Given the description of an element on the screen output the (x, y) to click on. 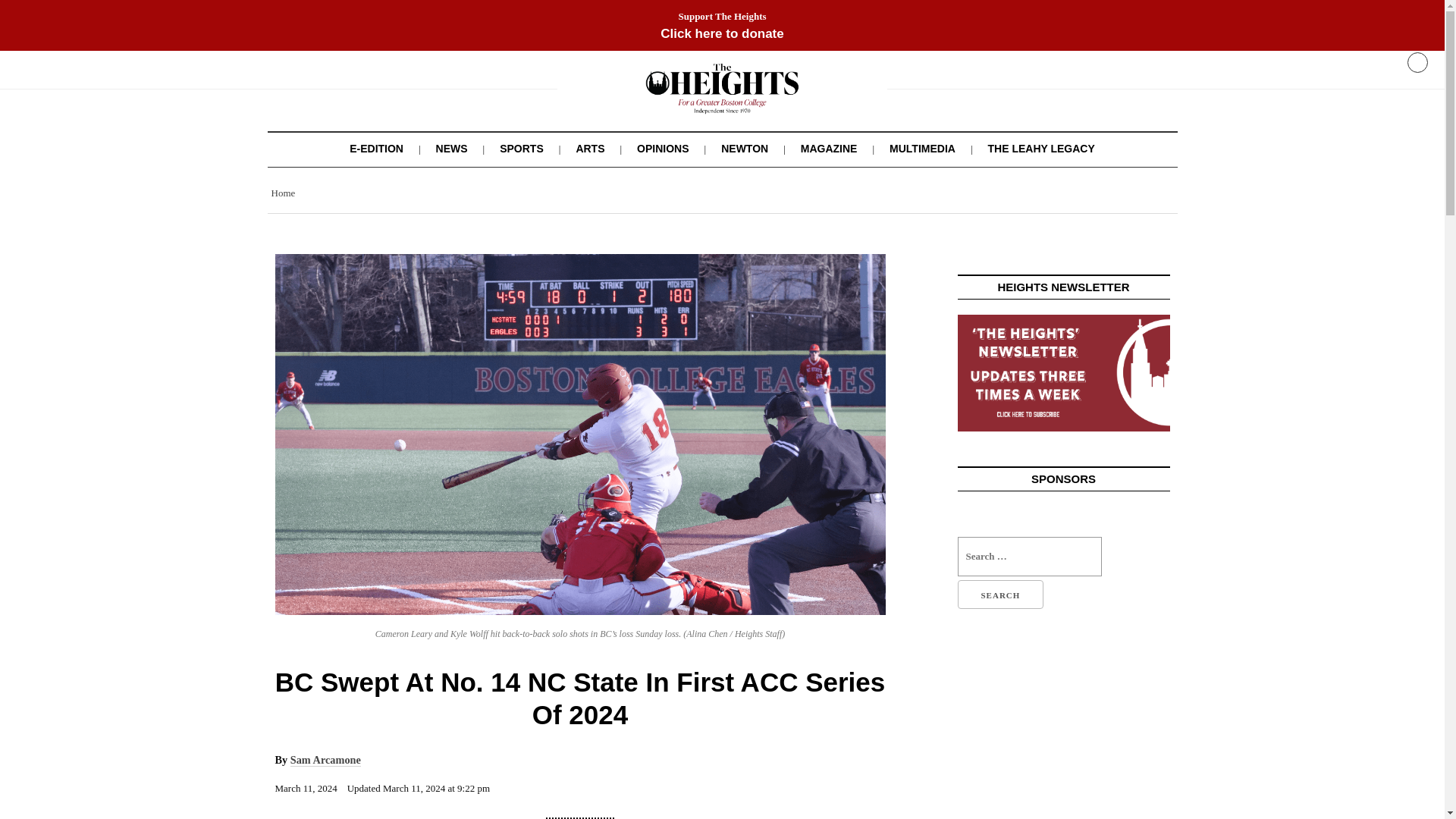
Click here to donate (722, 33)
E-EDITION (376, 148)
Search (999, 594)
ARTS (589, 148)
SPORTS (521, 148)
MULTIMEDIA (922, 148)
MAGAZINE (828, 148)
